Given the description of an element on the screen output the (x, y) to click on. 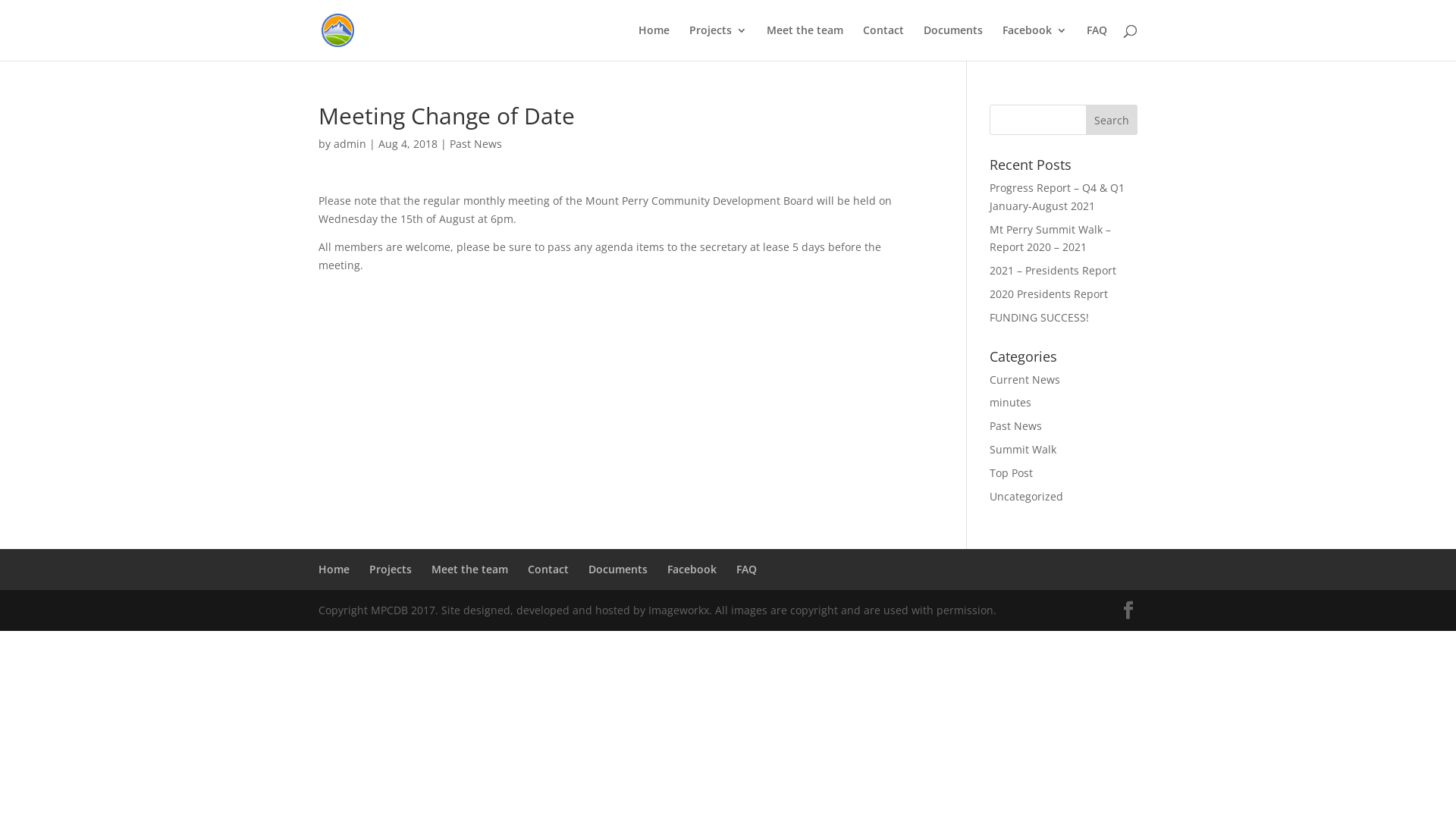
minutes Element type: text (1010, 402)
Past News Element type: text (1015, 425)
Top Post Element type: text (1010, 472)
Meet the team Element type: text (804, 42)
Projects Element type: text (390, 568)
Summit Walk Element type: text (1022, 449)
FUNDING SUCCESS! Element type: text (1038, 317)
Current News Element type: text (1024, 379)
Uncategorized Element type: text (1026, 496)
Documents Element type: text (617, 568)
Home Element type: text (653, 42)
FAQ Element type: text (746, 568)
Facebook Element type: text (1034, 42)
Search Element type: text (1111, 119)
Meet the team Element type: text (469, 568)
Contact Element type: text (547, 568)
2020 Presidents Report Element type: text (1048, 293)
Past News Element type: text (475, 143)
admin Element type: text (349, 143)
Documents Element type: text (952, 42)
Home Element type: text (333, 568)
Contact Element type: text (882, 42)
FAQ Element type: text (1096, 42)
Facebook Element type: text (691, 568)
Projects Element type: text (717, 42)
